Given the description of an element on the screen output the (x, y) to click on. 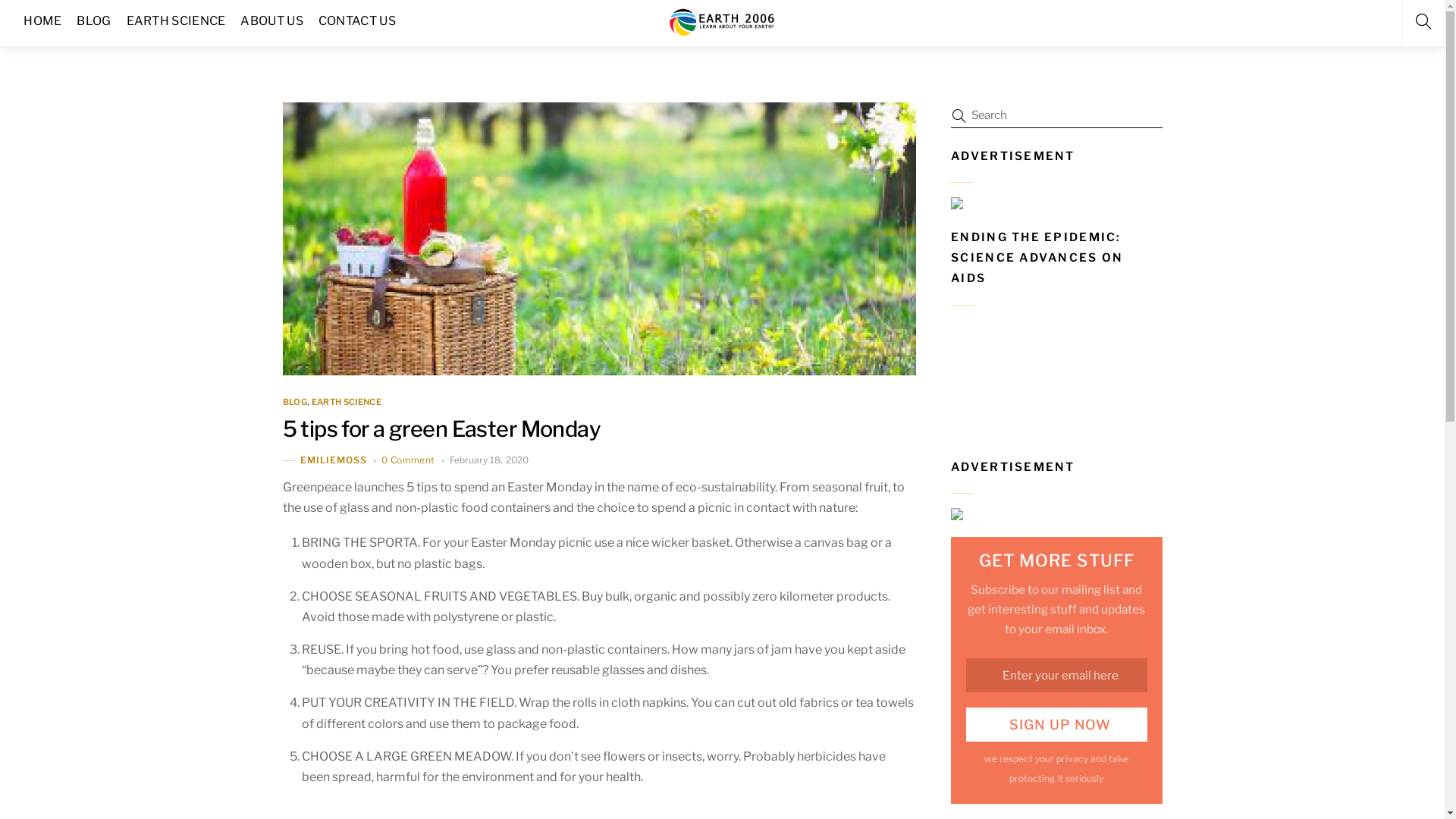
Earth 2006 Element type: hover (722, 31)
5 tips for a green Easter Monday Element type: text (441, 428)
EARTH SCIENCE Element type: text (346, 401)
0 Comment Element type: text (407, 459)
EMILIEMOSS Element type: text (333, 460)
BLOG Element type: text (294, 401)
Sign Up Now Element type: text (1056, 724)
Earth 2006 Element type: hover (722, 21)
Search Element type: hover (1048, 114)
